Given the description of an element on the screen output the (x, y) to click on. 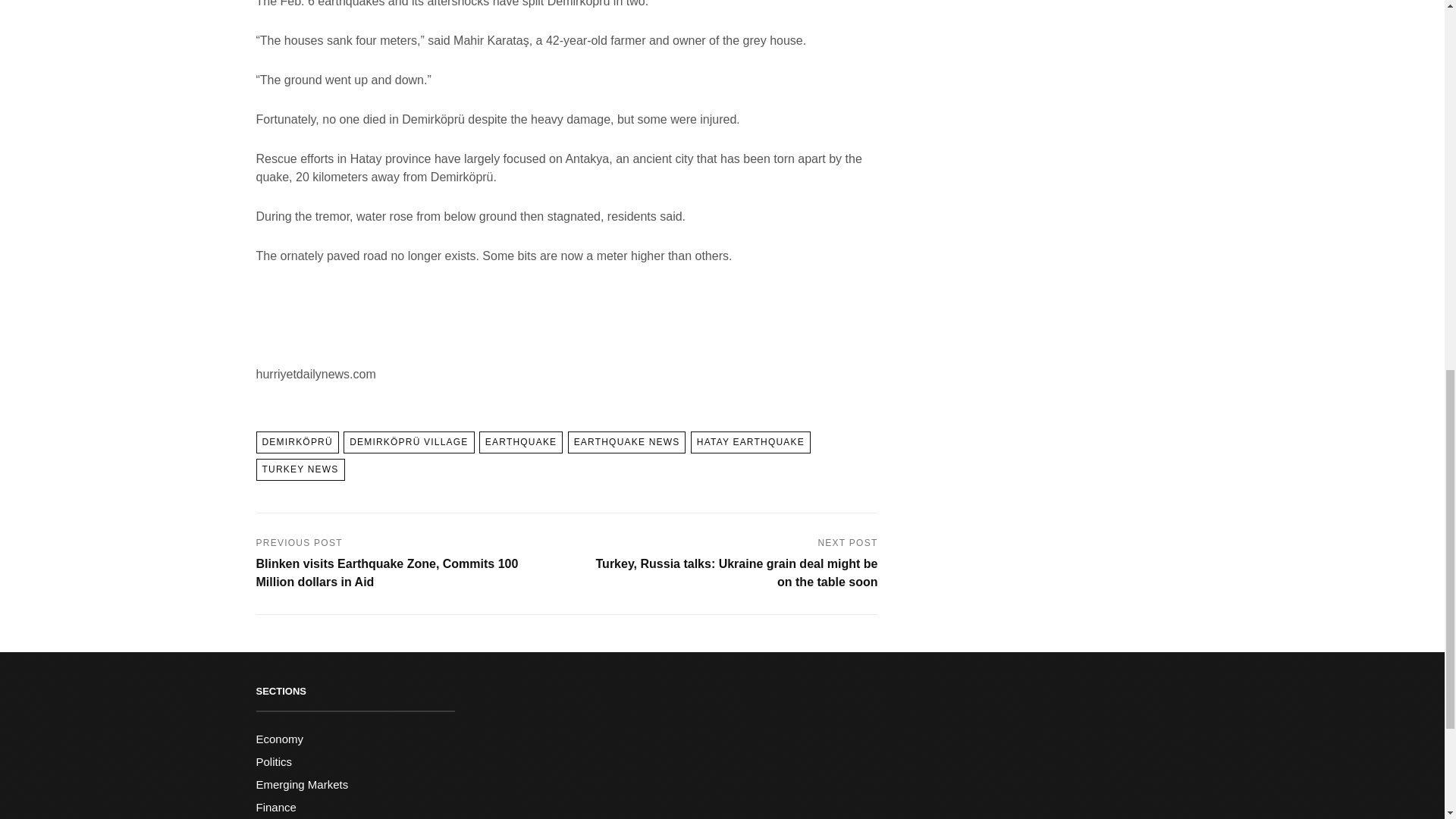
Finance (276, 807)
Emerging Markets (302, 784)
Politics (274, 761)
EARTHQUAKE (520, 442)
HATAY EARTHQUAKE (750, 442)
TURKEY NEWS (300, 469)
EARTHQUAKE NEWS (626, 442)
Economy (280, 738)
